Given the description of an element on the screen output the (x, y) to click on. 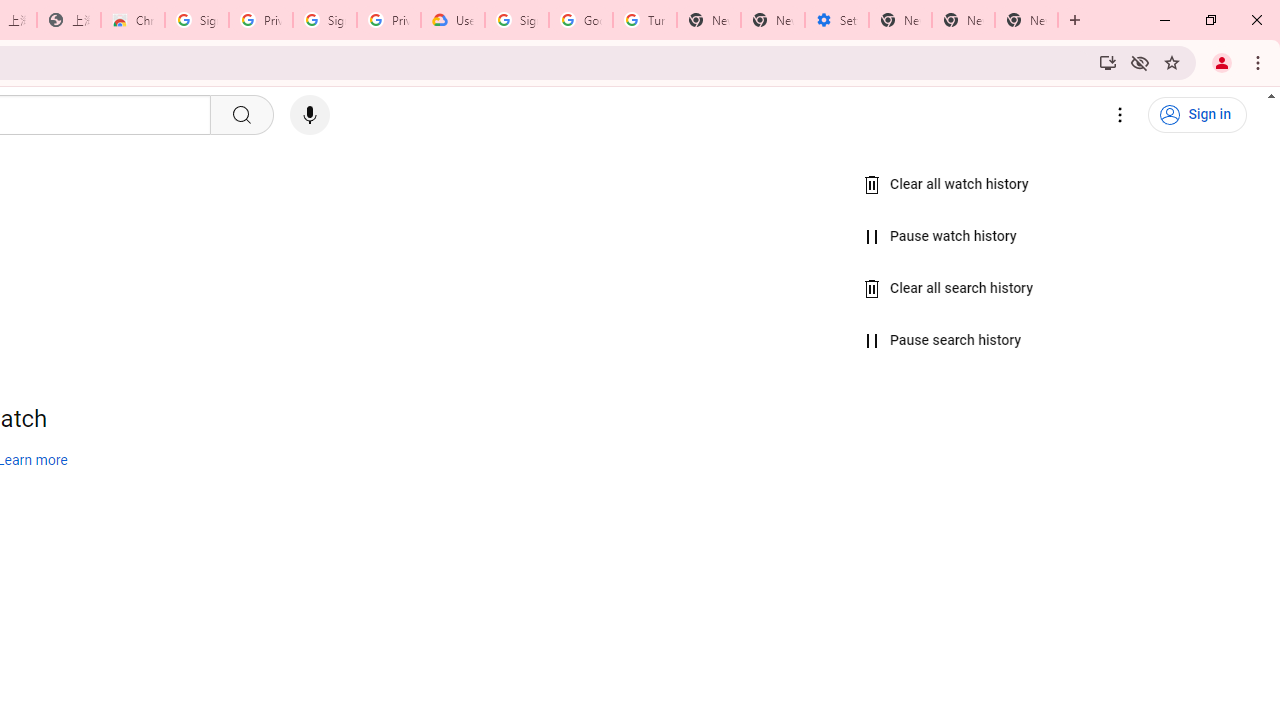
New Tab (1026, 20)
Search with your voice (309, 115)
Settings (1119, 115)
Turn cookies on or off - Computer - Google Account Help (645, 20)
New Tab (709, 20)
Chrome Web Store - Color themes by Chrome (133, 20)
Pause watch history (940, 236)
Clear all watch history (946, 185)
Sign in - Google Accounts (197, 20)
